Given the description of an element on the screen output the (x, y) to click on. 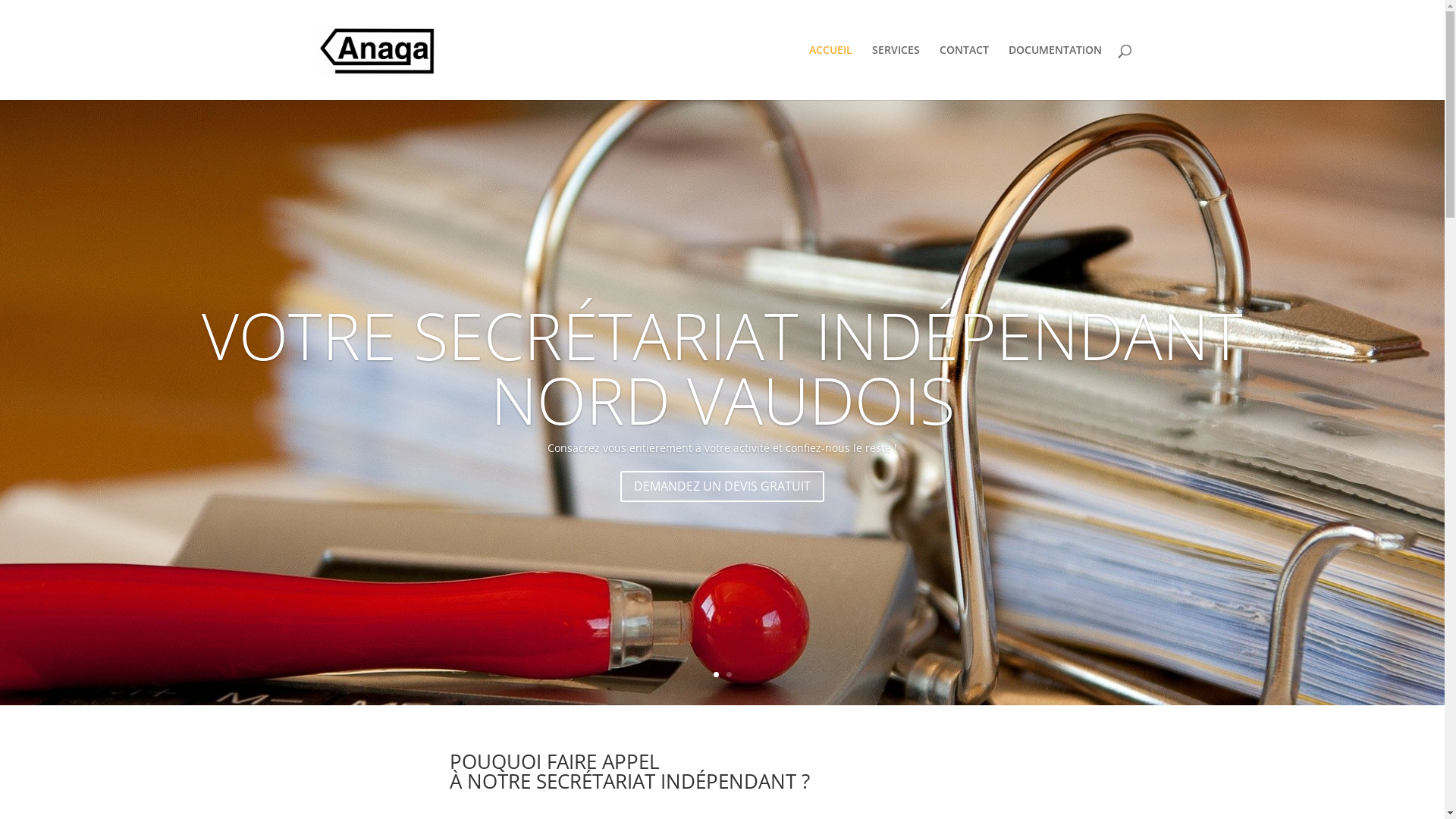
SERVICES Element type: text (895, 72)
1 Element type: text (715, 674)
ACCUEIL Element type: text (829, 72)
DEMANDEZ UN DEVIS GRATUIT Element type: text (722, 486)
2 Element type: text (728, 674)
CONTACT Element type: text (963, 72)
DOCUMENTATION Element type: text (1054, 72)
